Given the description of an element on the screen output the (x, y) to click on. 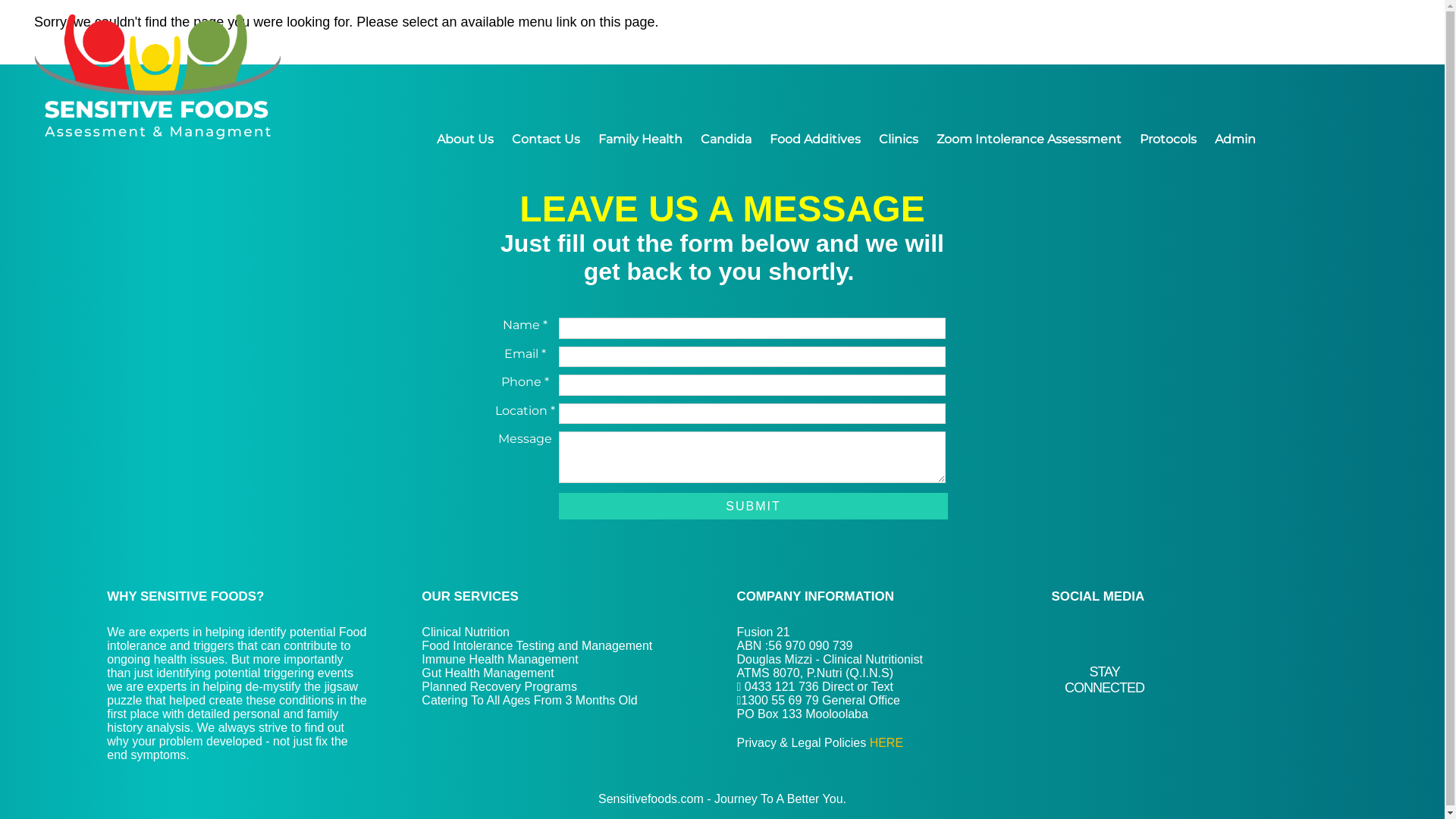
Candida Element type: text (725, 139)
Food Additives Element type: text (814, 139)
Family Health Element type: text (640, 139)
Clinics Element type: text (898, 139)
Contact Us Element type: text (545, 139)
Protocols Element type: text (1167, 139)
Admin Element type: text (1234, 139)
Submit Element type: text (752, 505)
About Us Element type: text (464, 139)
Zoom Intolerance Assessment Element type: text (1028, 139)
HERE Element type: text (886, 742)
